Given the description of an element on the screen output the (x, y) to click on. 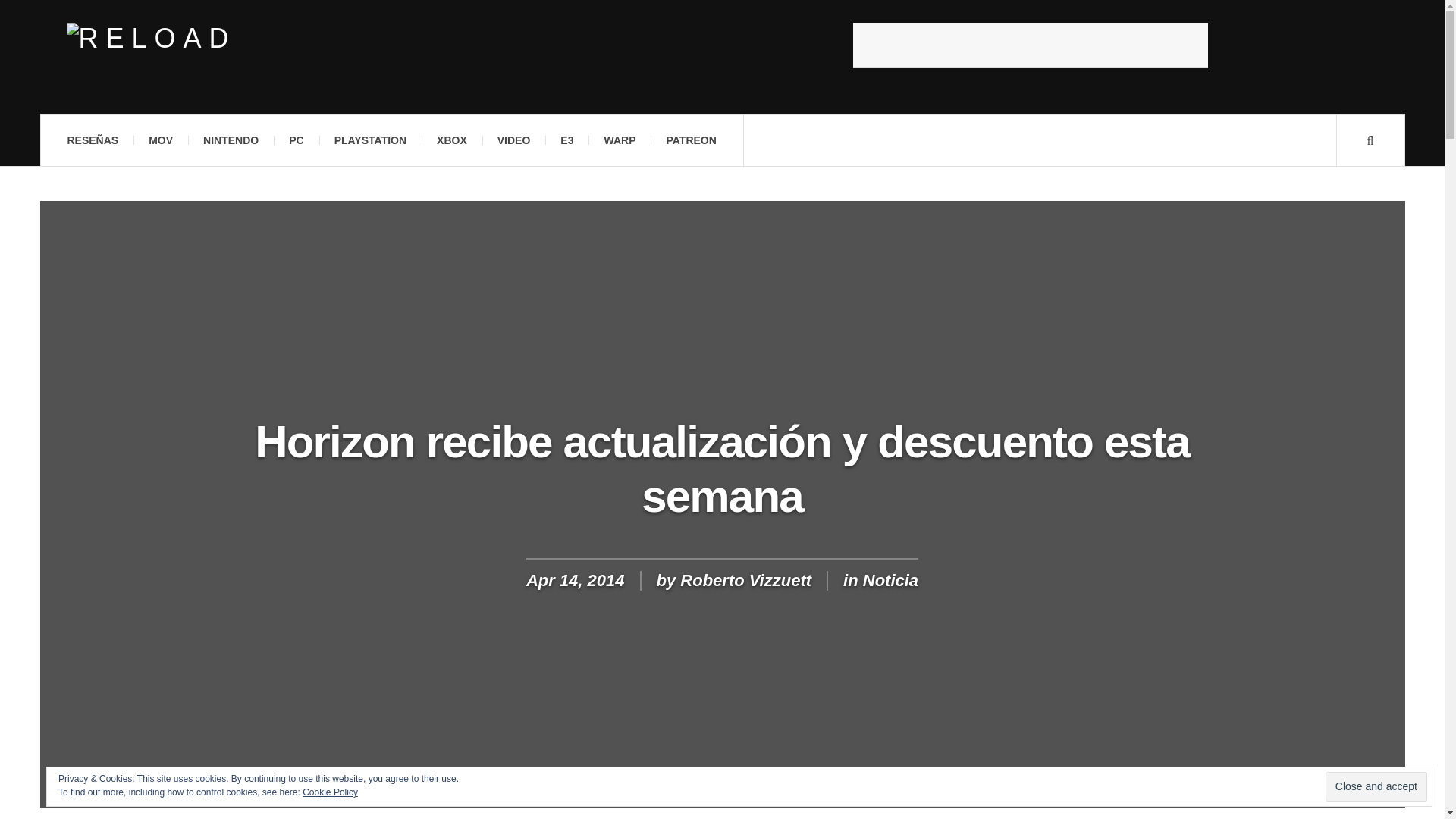
MOV (160, 140)
Noticia (890, 579)
XBOX (451, 140)
Roberto Vizzuett (744, 579)
Reload (150, 38)
NINTENDO (230, 140)
Close and accept (1375, 786)
PLAYSTATION (370, 140)
WARP (619, 140)
PATREON (690, 140)
